Given the description of an element on the screen output the (x, y) to click on. 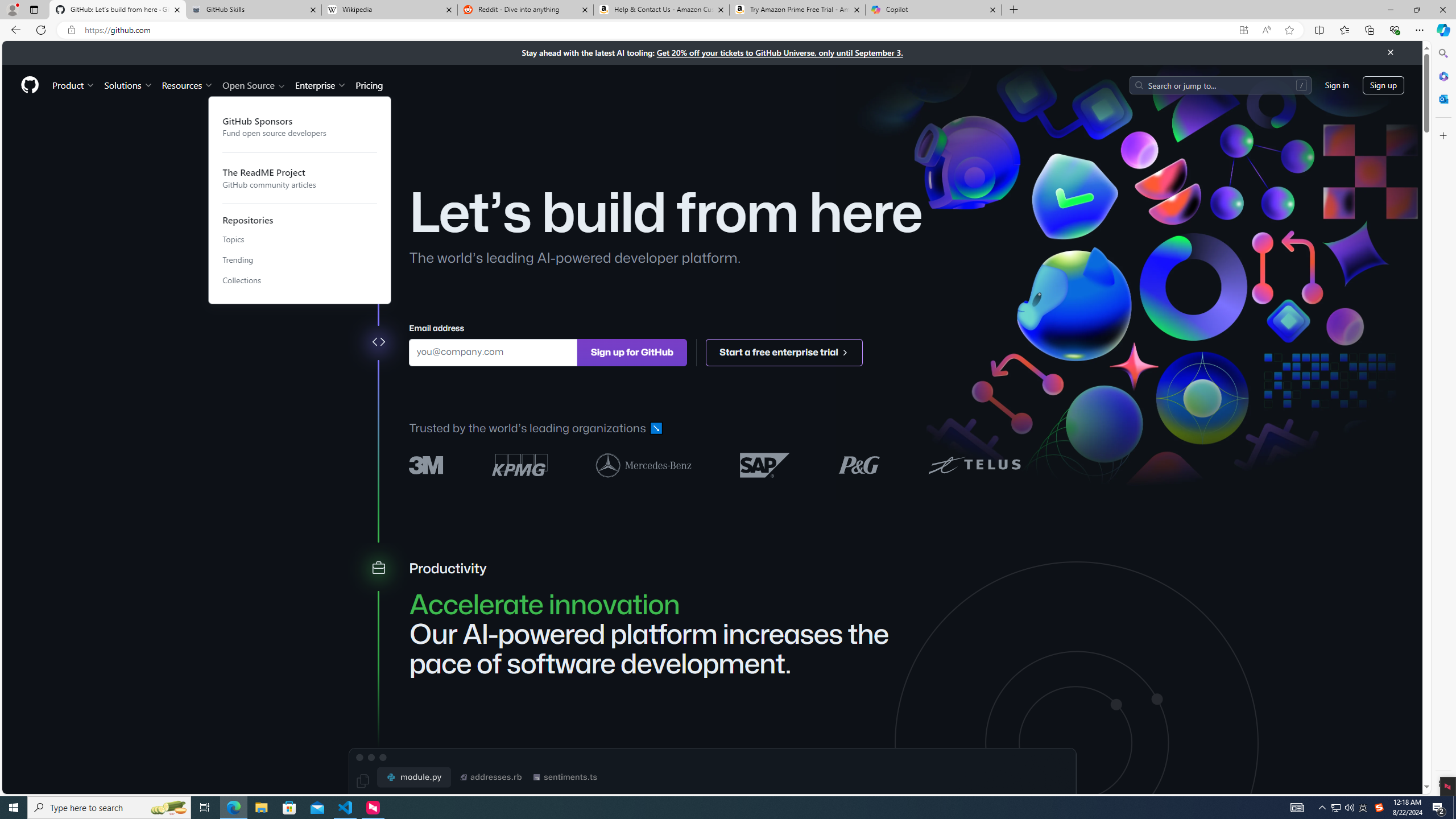
Topics (299, 239)
Trending (299, 259)
Product (74, 84)
Side bar (1443, 418)
3M logo (426, 465)
Telus logo (973, 464)
Solutions (128, 84)
Topics (299, 239)
Close Outlook pane (1442, 98)
Resources (187, 84)
Trending (299, 259)
